Given the description of an element on the screen output the (x, y) to click on. 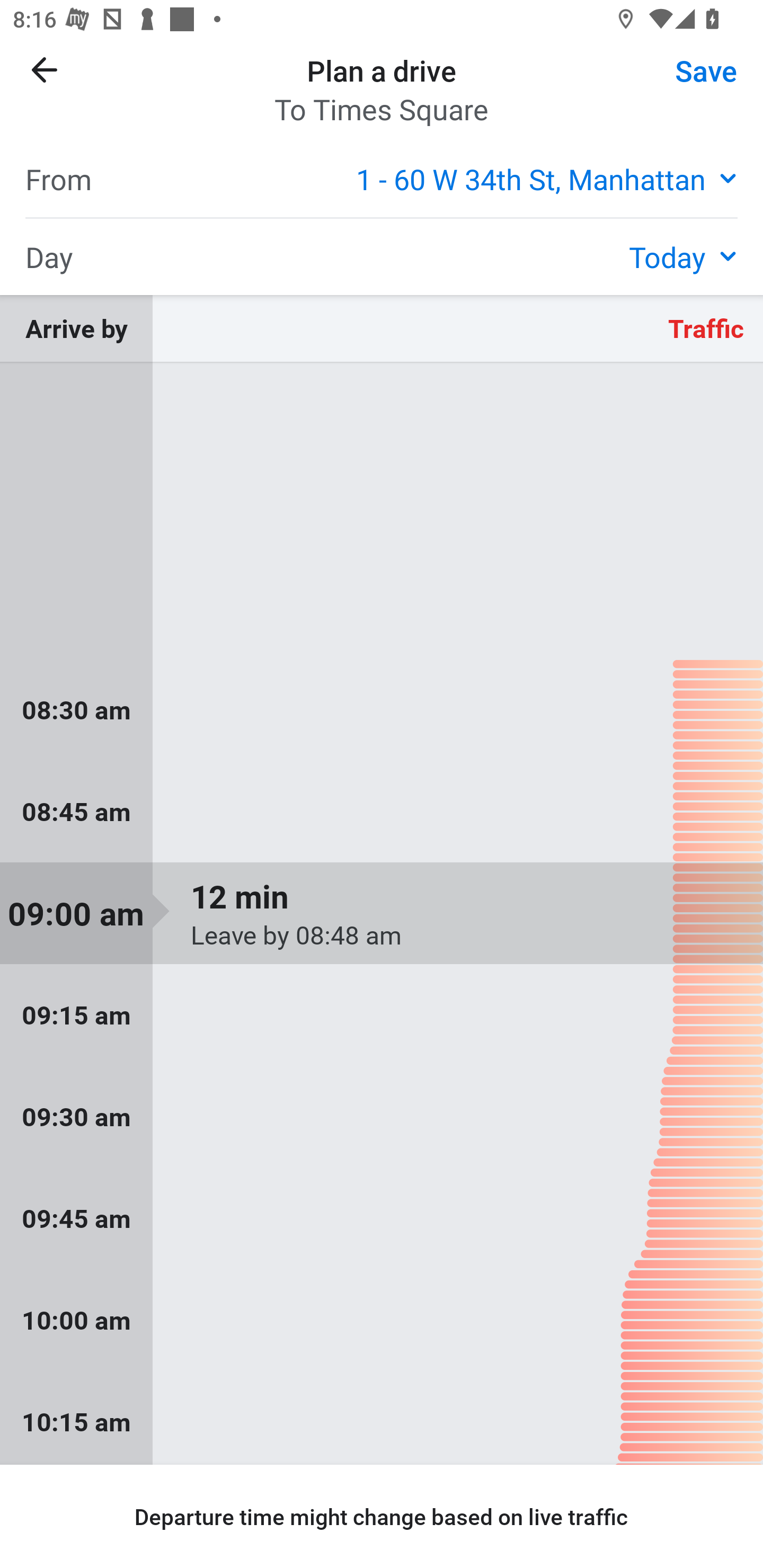
Settings (690, 82)
1 - 60 W 34th St, Manhattan (546, 178)
Today (682, 255)
08:45 am (381, 811)
09:00 am 12 min Leave by 08:48 am (381, 913)
09:15 am (381, 1015)
09:30 am (381, 1117)
09:45 am (381, 1218)
10:00 am (381, 1319)
10:15 am (381, 1417)
